Given the description of an element on the screen output the (x, y) to click on. 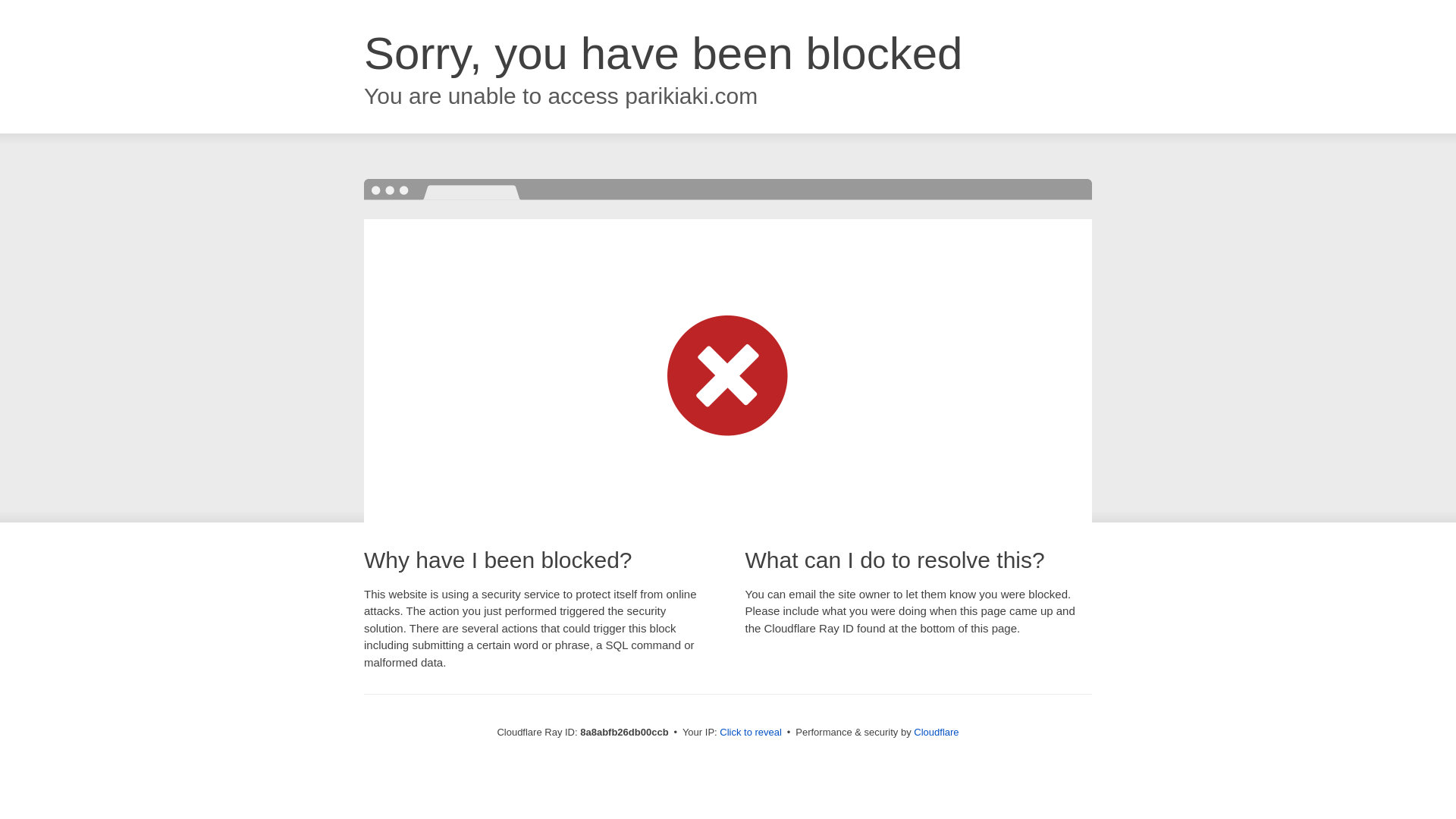
Click to reveal (750, 732)
Cloudflare (936, 731)
